Given the description of an element on the screen output the (x, y) to click on. 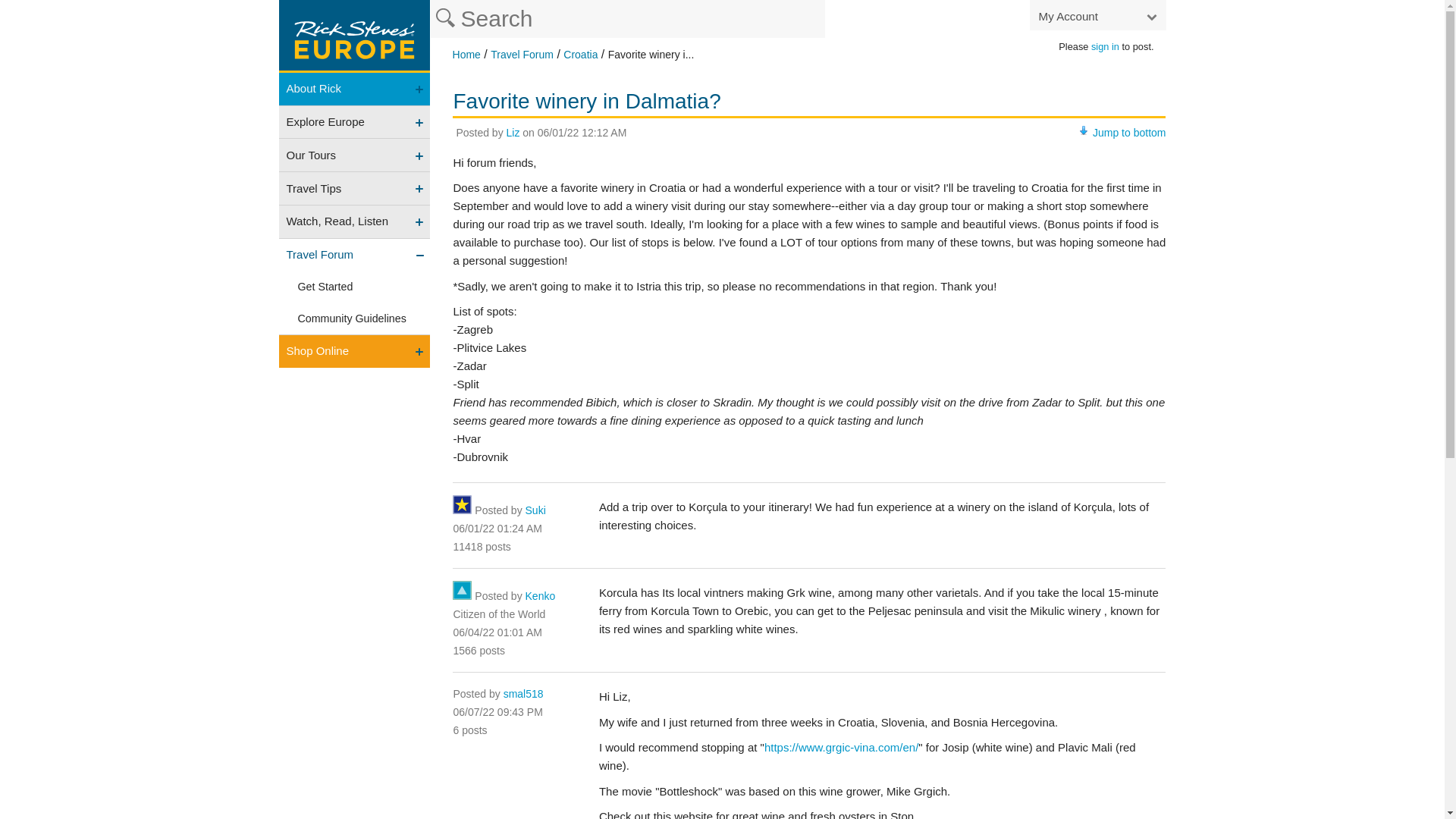
Suki (535, 510)
Rick Steves' Europe (466, 54)
smal518 (523, 693)
Watch, Read, Listen (354, 221)
sign in (1104, 46)
Reply: 1925223 (496, 528)
Suki (535, 510)
Explore Europe (354, 122)
Travel Tips (354, 187)
My Account (1097, 15)
